Given the description of an element on the screen output the (x, y) to click on. 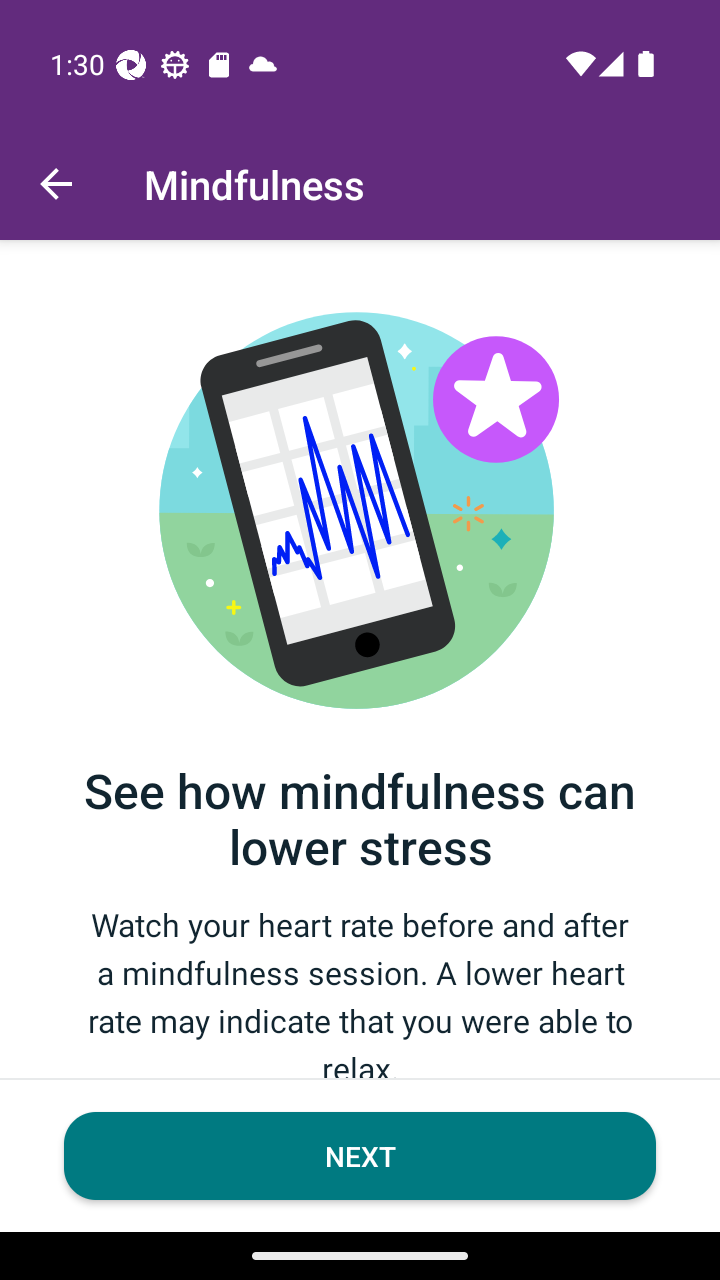
Navigate up (56, 184)
NEXT (359, 1156)
